Given the description of an element on the screen output the (x, y) to click on. 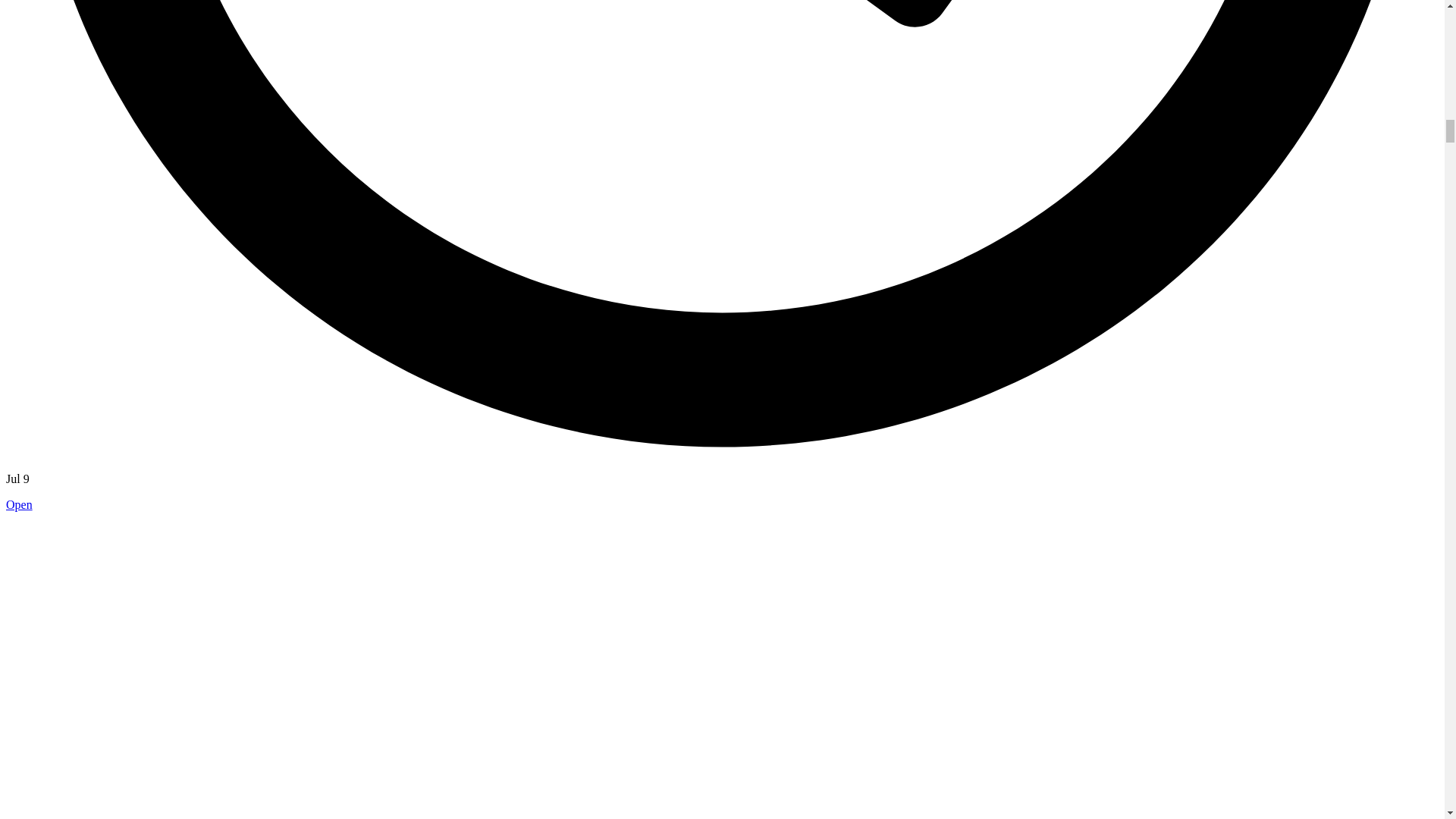
Open (18, 504)
